Given the description of an element on the screen output the (x, y) to click on. 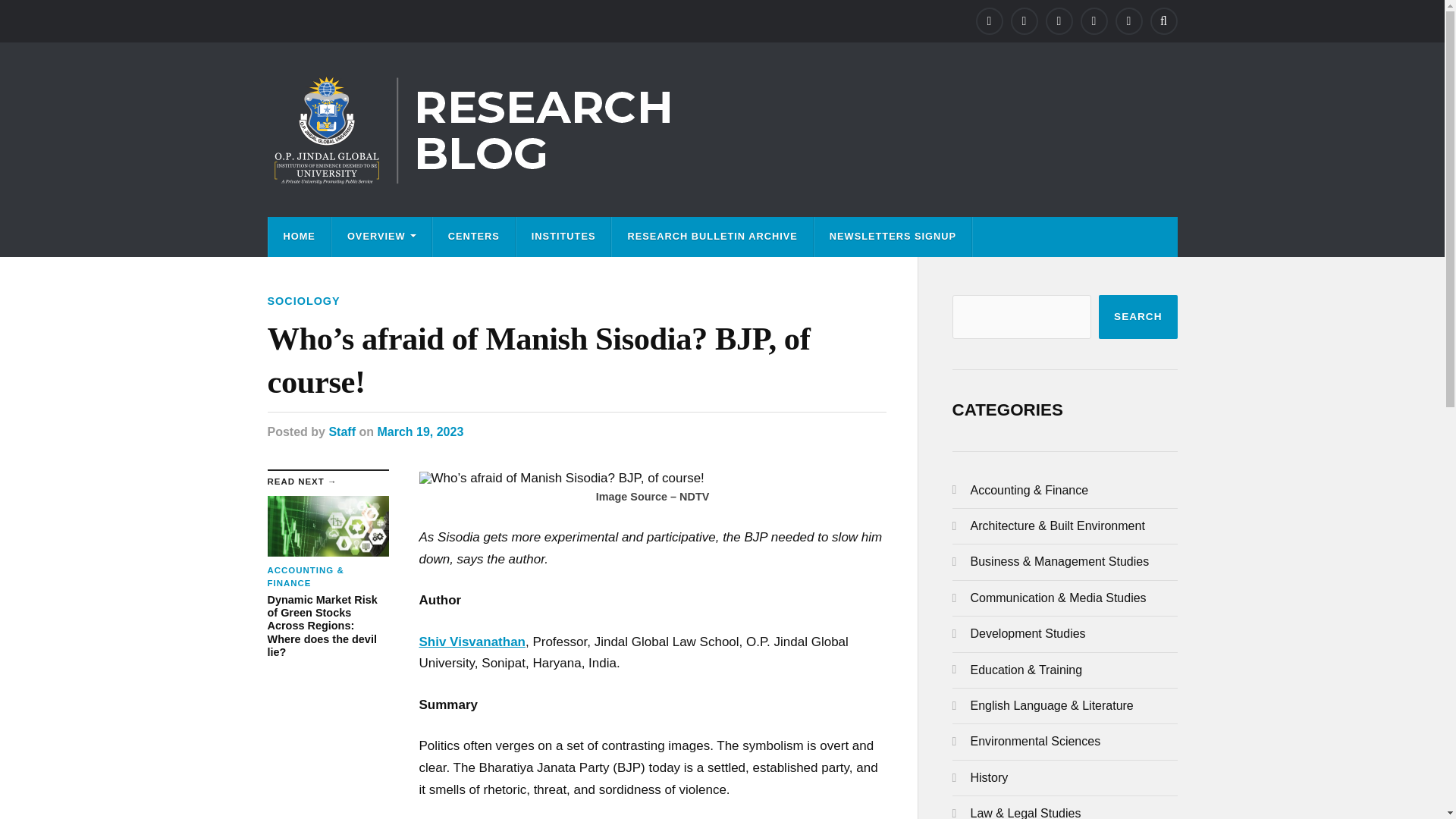
HOME (298, 237)
SOCIOLOGY (302, 300)
Shiv Visvanathan (471, 641)
NEWSLETTERS SIGNUP (892, 237)
INSTITUTES (563, 237)
OVERVIEW (380, 237)
RESEARCH BULLETIN ARCHIVE (711, 237)
Staff (342, 431)
CENTERS (473, 237)
March 19, 2023 (420, 431)
